Given the description of an element on the screen output the (x, y) to click on. 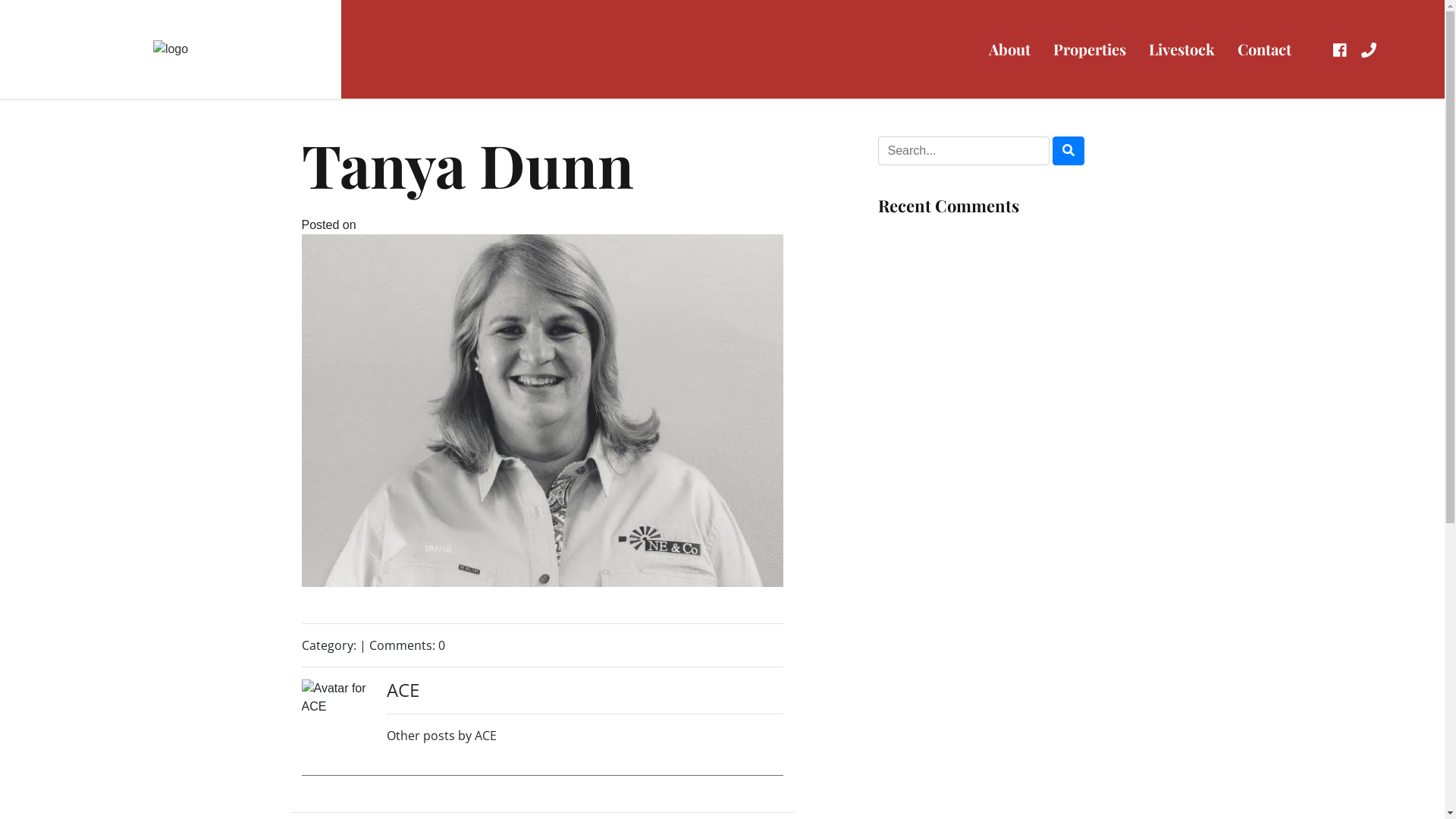
Gravatar for ACE Element type: hover (337, 715)
ACE Element type: text (402, 689)
Livestock Element type: text (1181, 49)
Search Element type: text (1068, 150)
About Element type: text (1008, 49)
Properties Element type: text (1089, 49)
Contact Element type: text (1263, 49)
ACE Element type: text (485, 735)
